Given the description of an element on the screen output the (x, y) to click on. 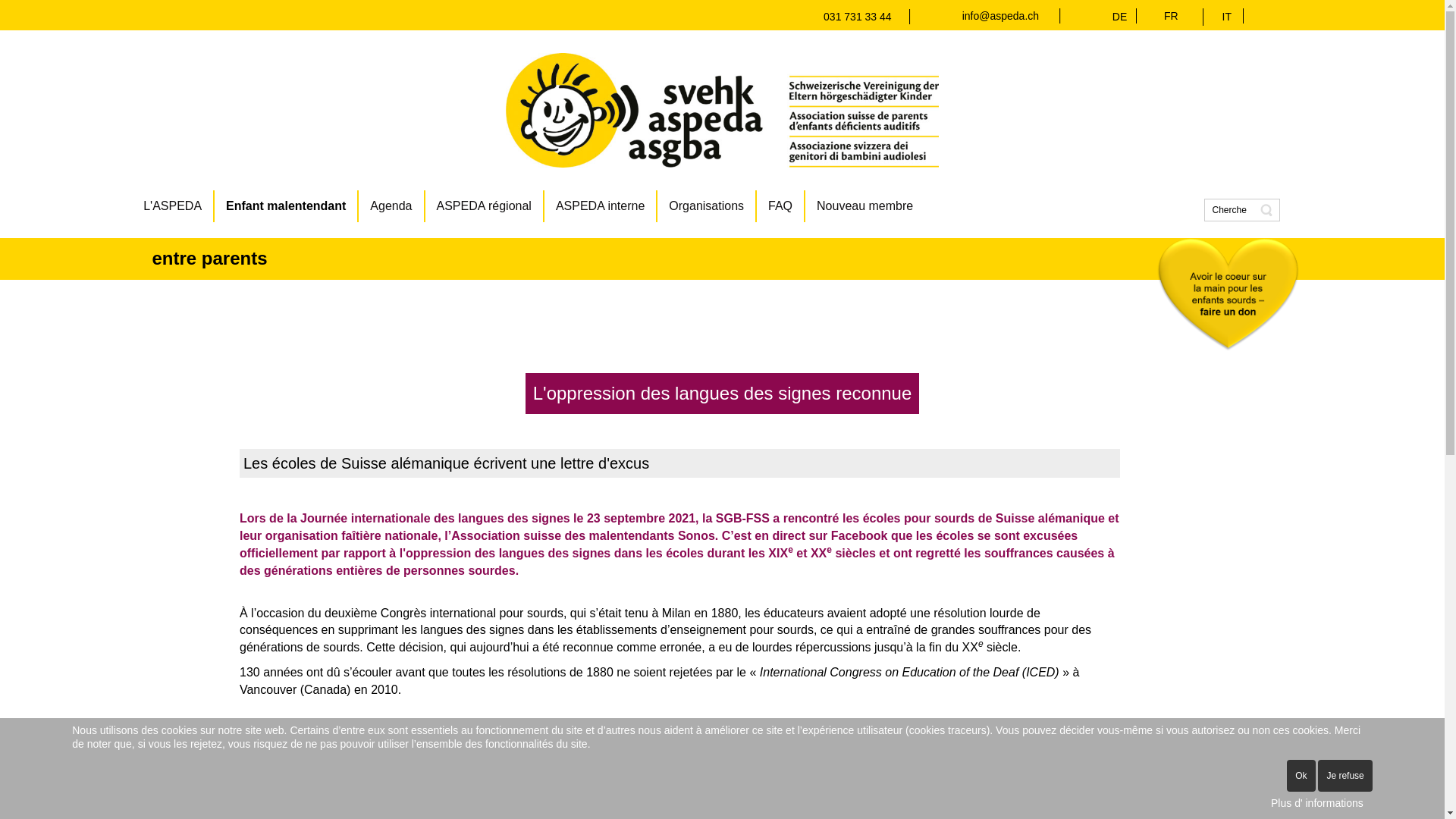
IT Element type: text (1226, 16)
Organisations Element type: text (706, 206)
Enfant malentendant Element type: text (286, 206)
Agenda Element type: text (391, 206)
Ok Element type: text (1300, 775)
Je refuse Element type: text (1344, 775)
ASPEDA interne Element type: text (600, 206)
FAQ Element type: text (780, 206)
L'ASPEDA Element type: text (172, 206)
Plus d' informations Element type: text (1316, 803)
info@a Element type: text (979, 15)
DE    Element type: text (1123, 16)
FR Element type: text (1171, 15)
Nouveau membre Element type: text (864, 206)
